Given the description of an element on the screen output the (x, y) to click on. 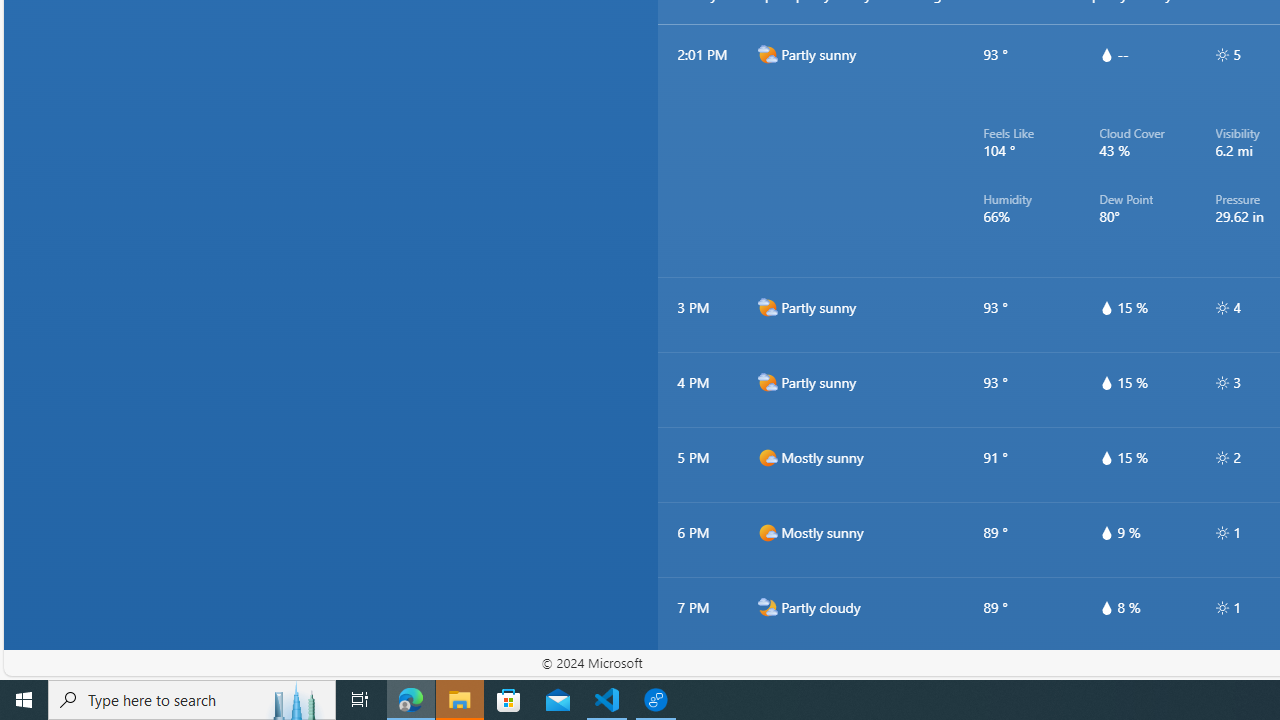
hourlyTable/uv (1222, 607)
d2000 (767, 382)
hourlyTable/drop (1106, 607)
n2000 (767, 682)
d1000 (767, 532)
